Given the description of an element on the screen output the (x, y) to click on. 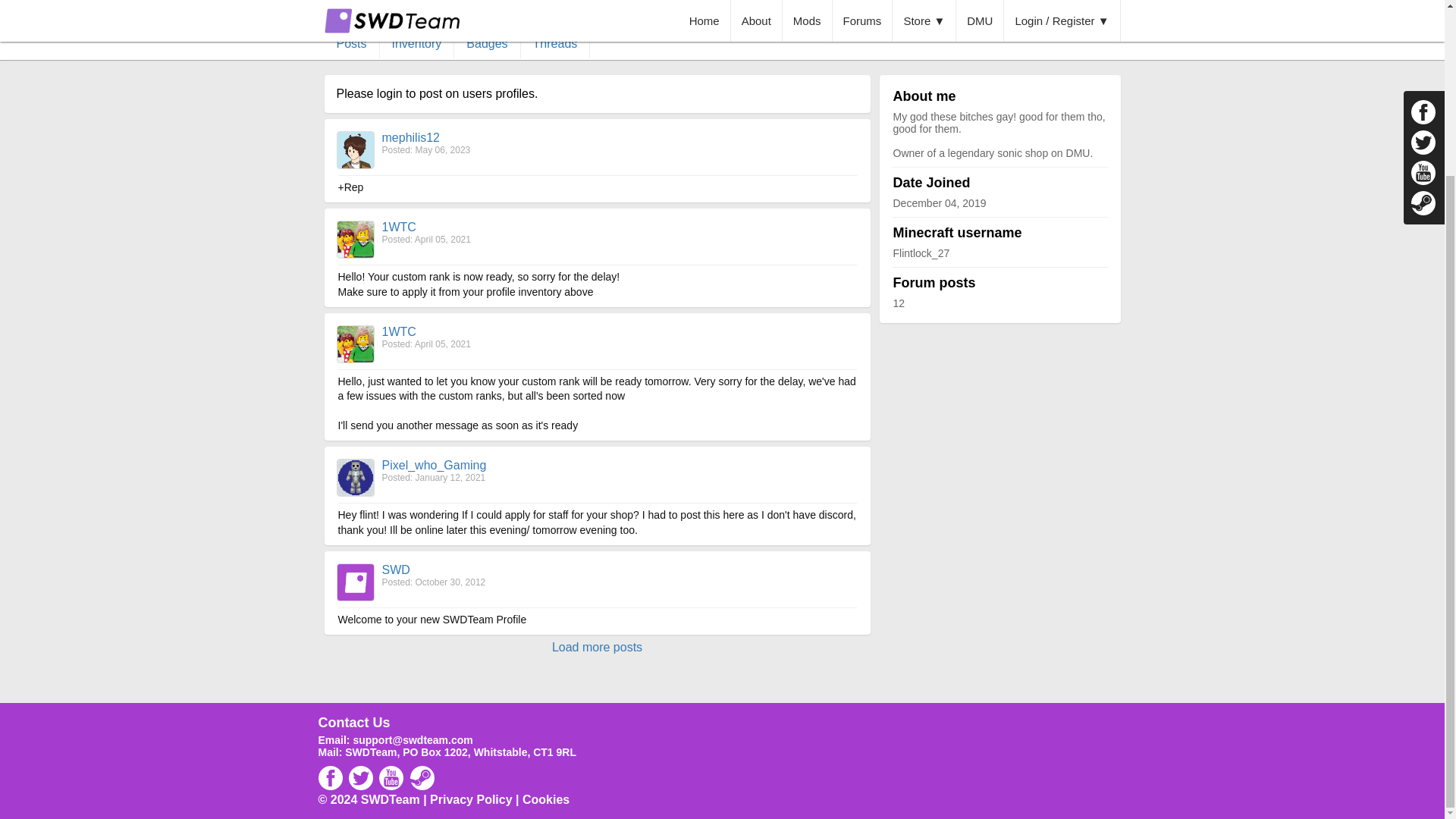
mephilis12 (410, 137)
Badges (486, 43)
1WTC (398, 331)
Please login to post on users profiles. (437, 92)
Threads (556, 43)
Inventory (417, 43)
Posts (352, 43)
1WTC (398, 226)
